Given the description of an element on the screen output the (x, y) to click on. 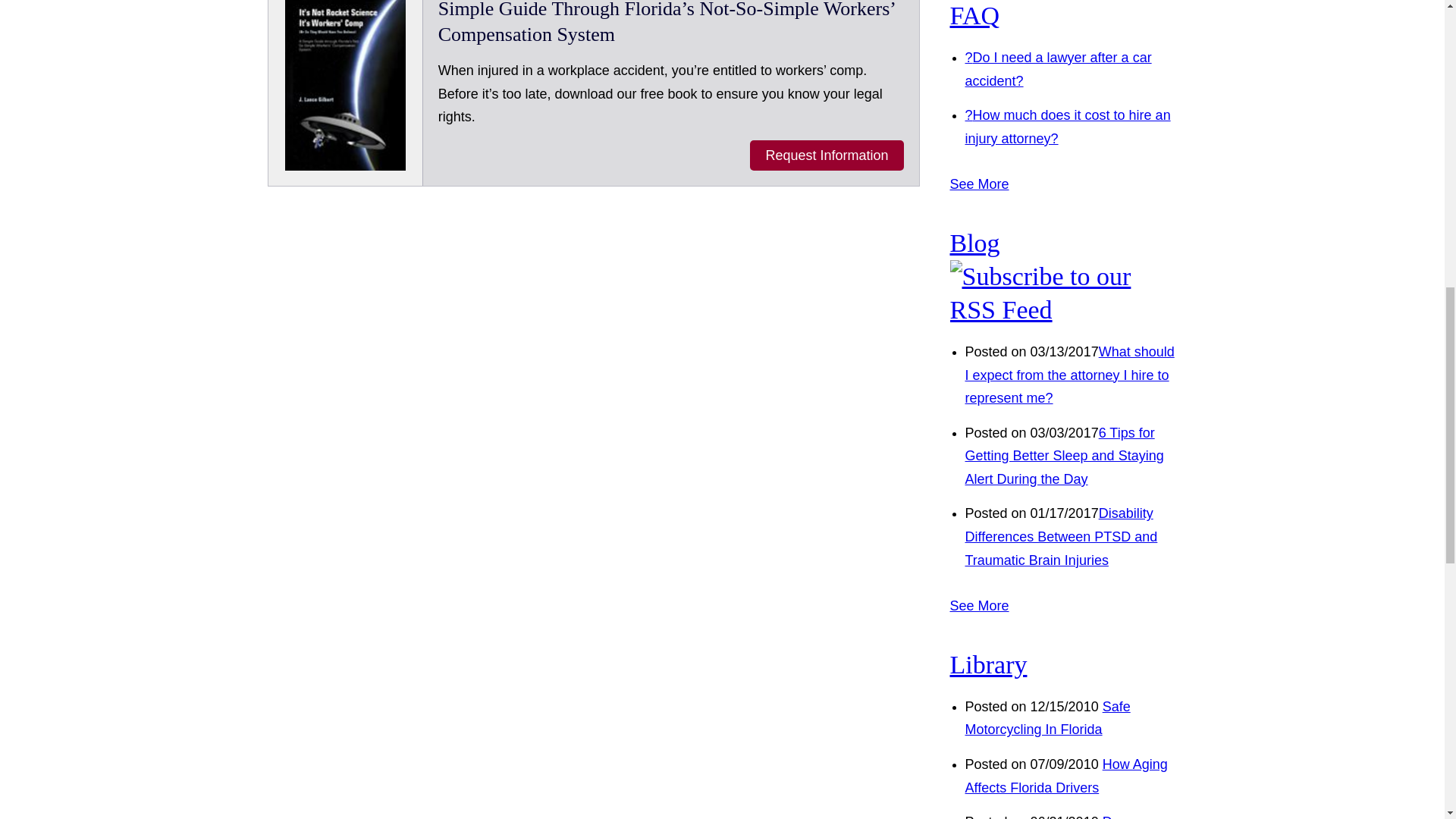
?Do I need a lawyer after a car accident? (1057, 68)
Request Information (825, 155)
Subscribe to our RSS Feed (1062, 309)
See More (979, 183)
?How much does it cost to hire an injury attorney? (1066, 126)
FAQ (973, 15)
